Given the description of an element on the screen output the (x, y) to click on. 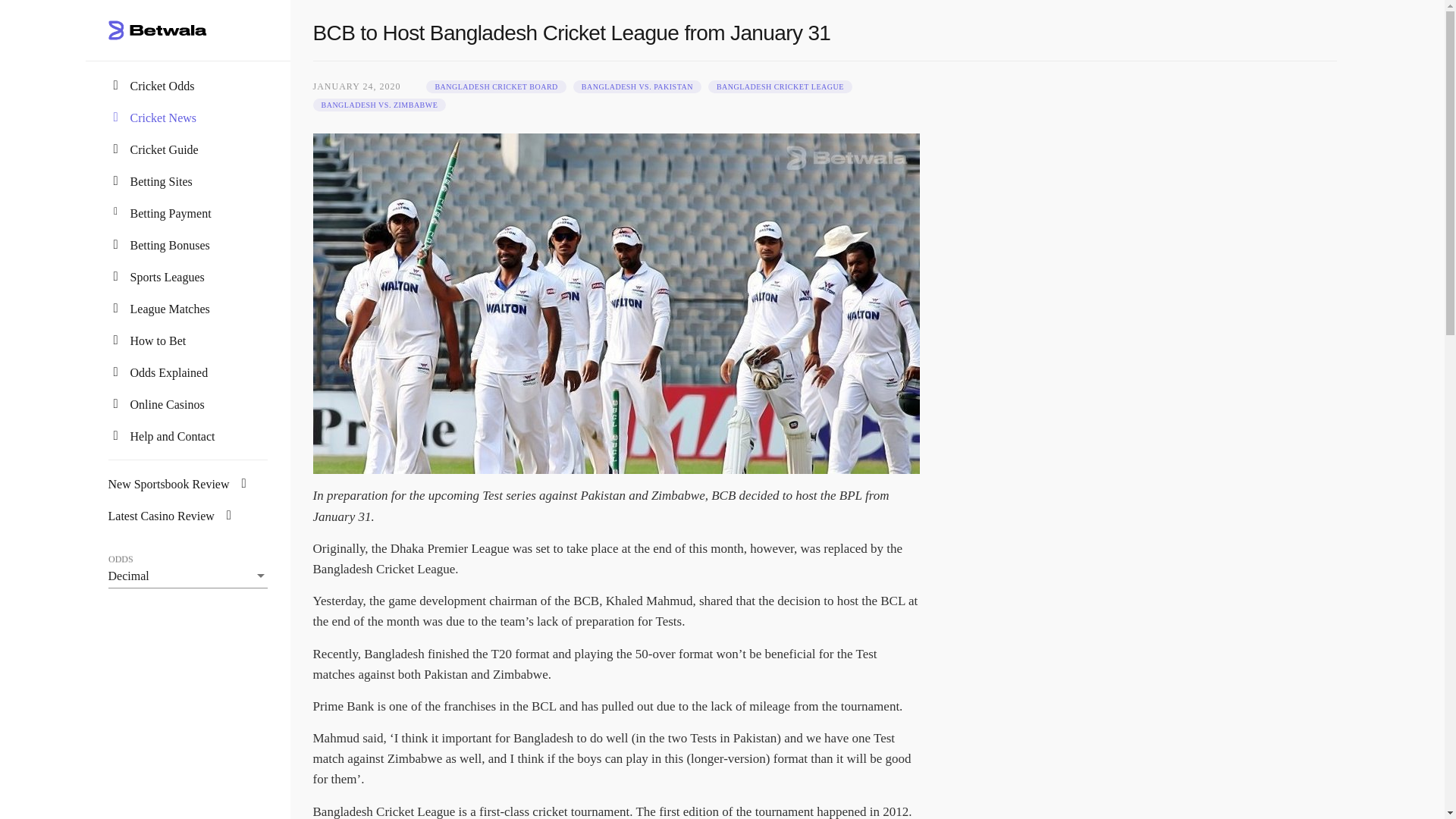
Online Casinos (168, 404)
Cricket Guide (164, 149)
undefined (496, 86)
Sports Leagues (168, 277)
New Sportsbook Review (178, 483)
League Matches (170, 308)
Cricket Odds (163, 85)
New Sportsbook Review (178, 483)
BANGLADESH VS. PAKISTAN (637, 86)
Odds Explained (169, 372)
